Given the description of an element on the screen output the (x, y) to click on. 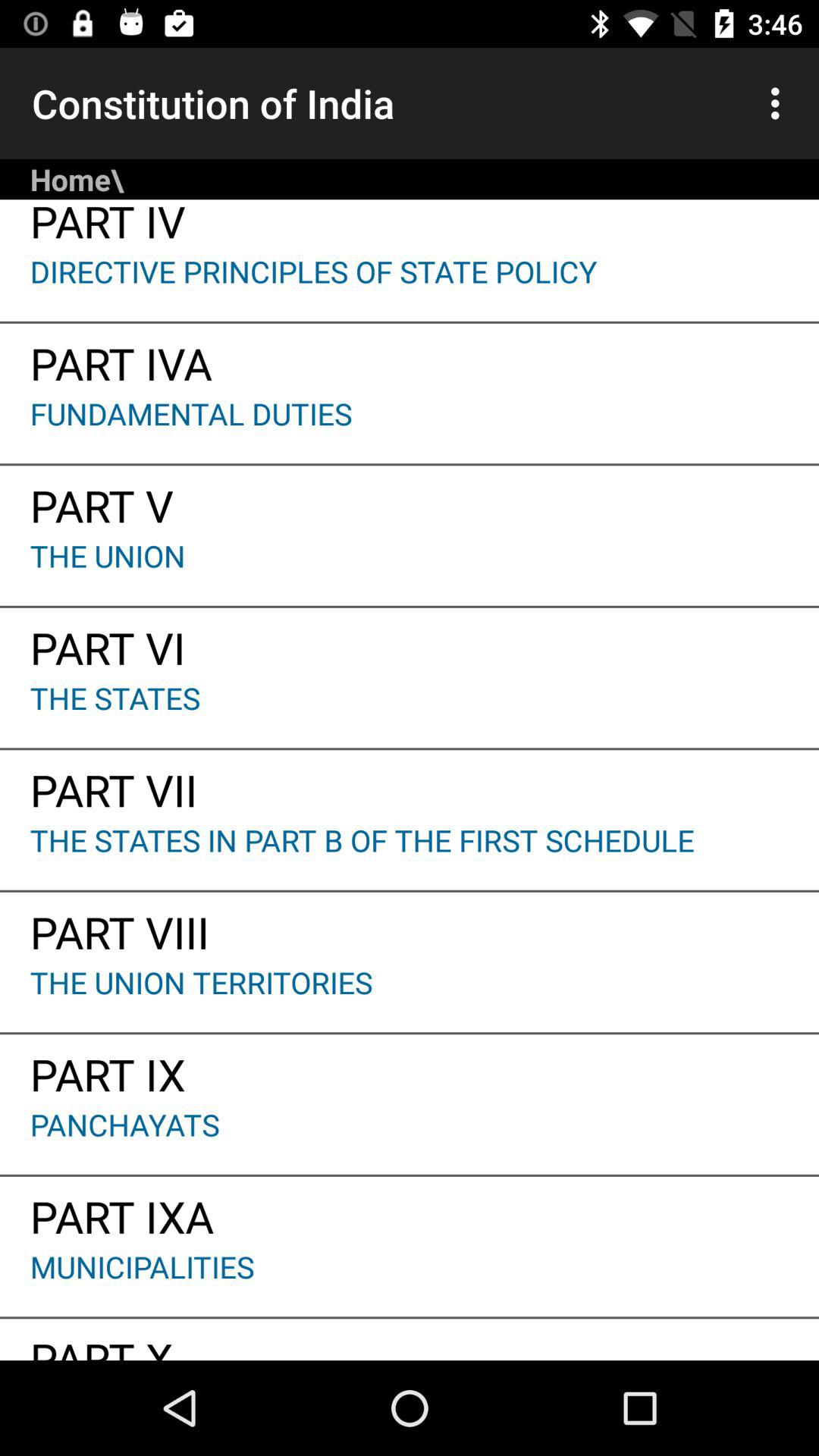
jump until part iva item (409, 358)
